Given the description of an element on the screen output the (x, y) to click on. 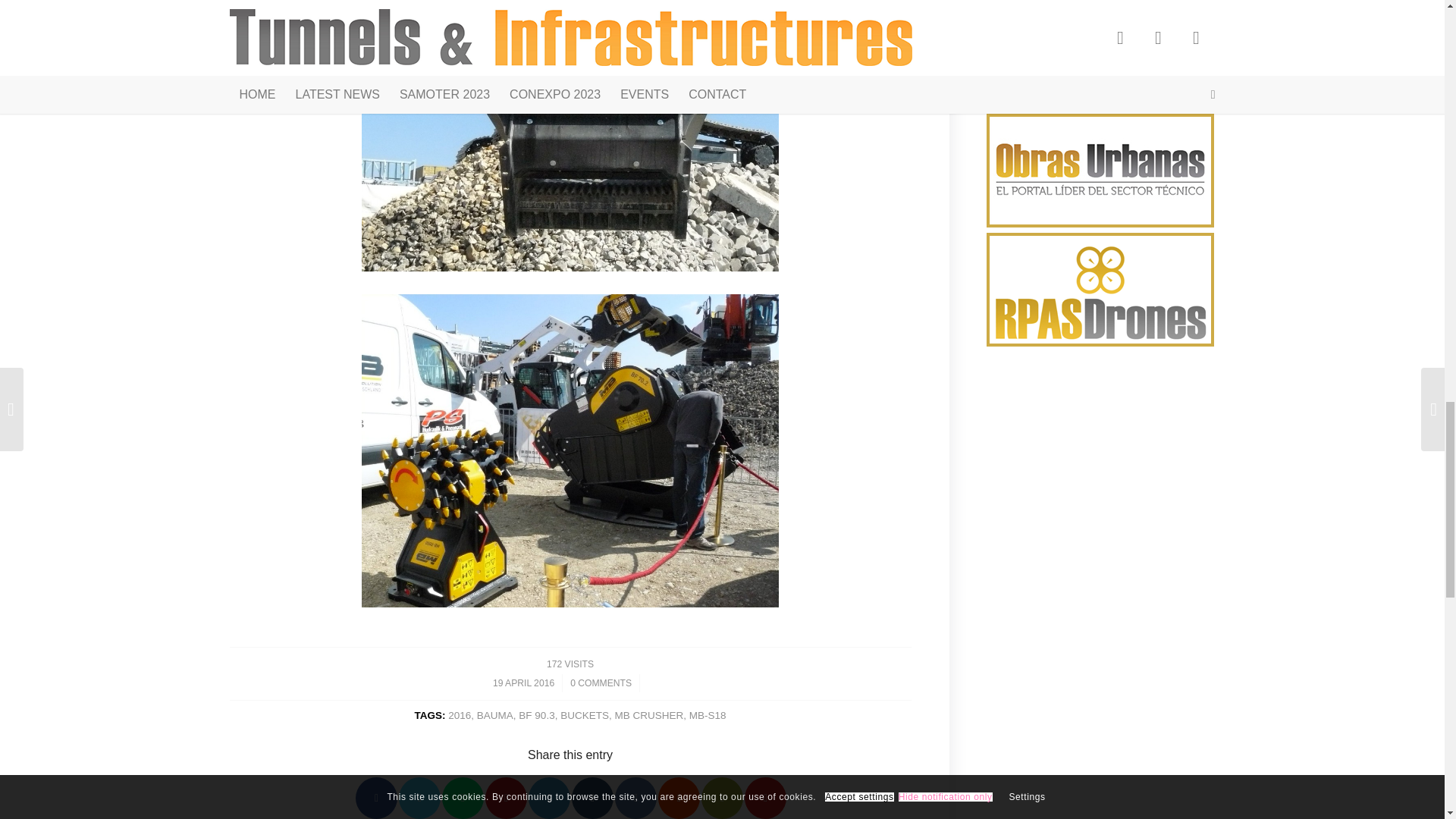
2016 (459, 715)
BF 90.3 (536, 715)
BUCKETS (584, 715)
0 COMMENTS (600, 683)
BAUMA (495, 715)
MB-S18 (707, 715)
MB CRUSHER (648, 715)
